Given the description of an element on the screen output the (x, y) to click on. 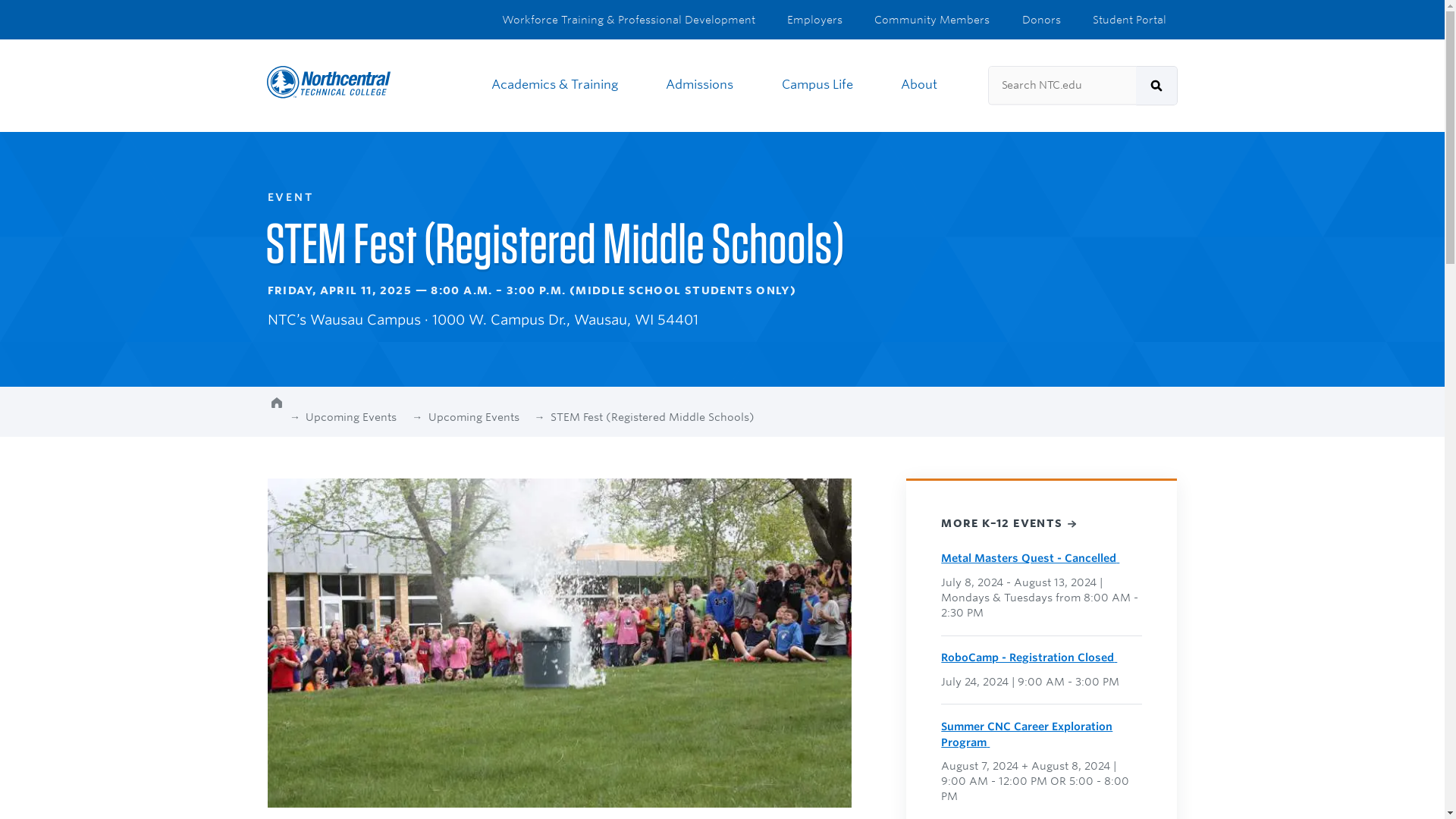
Northcentral Technical College (328, 82)
Upcoming Events (356, 417)
Admissions (704, 84)
RoboCamp - Registration Closed (1034, 657)
About (924, 84)
Summer CNC Career Exploration Program (1026, 734)
Search (1156, 85)
Home (275, 410)
Upcoming Events (479, 417)
Campus Life (822, 84)
Employers (819, 19)
Donors (1046, 19)
Community Members (936, 19)
submit (1156, 85)
